Given the description of an element on the screen output the (x, y) to click on. 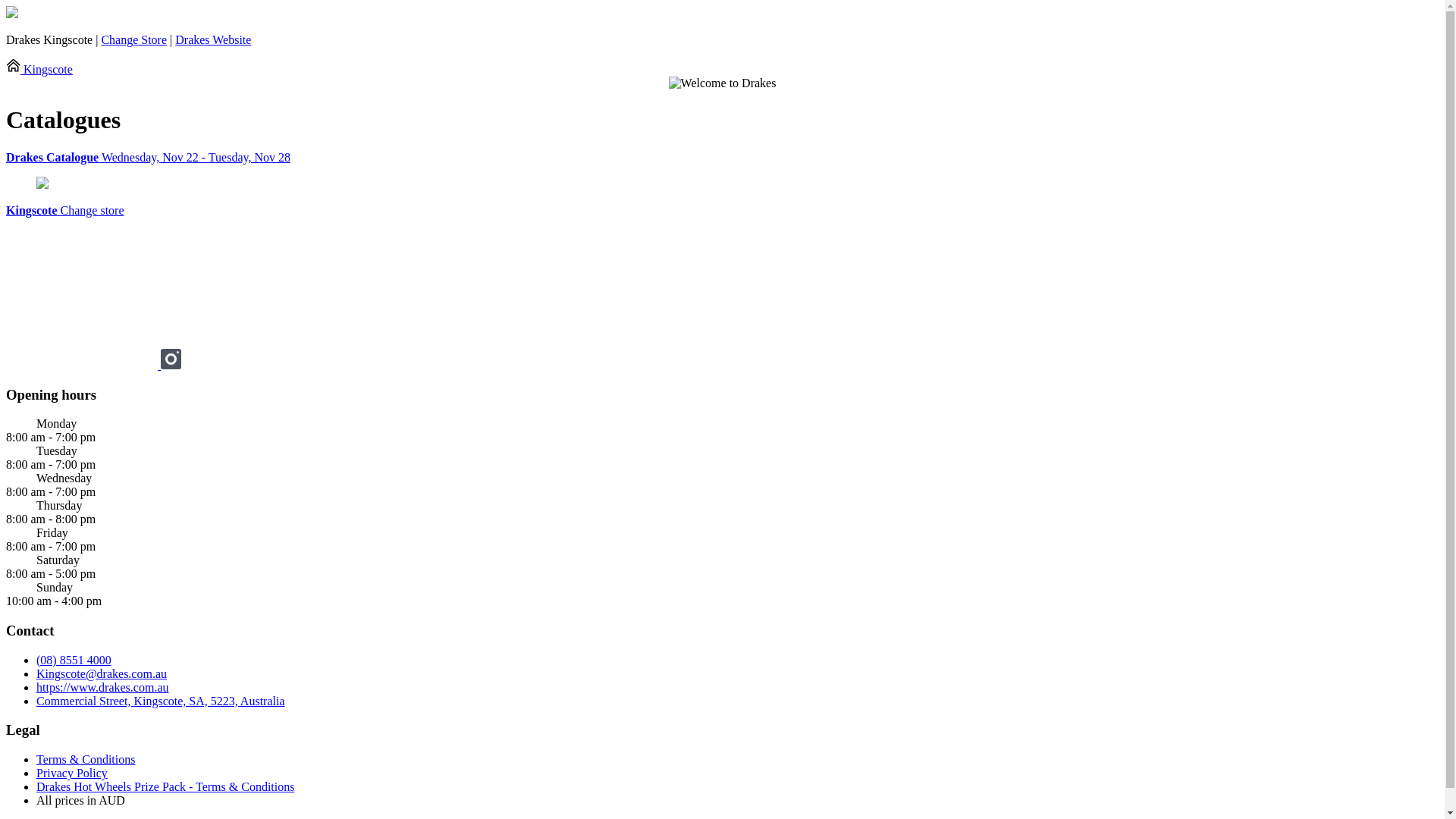
(08) 8551 4000 Element type: text (73, 659)
Kingscote Change store Element type: text (65, 209)
Kingscote@drakes.com.au Element type: text (101, 673)
Instagram drakessupermarkets Element type: hover (170, 364)
Kingscote Element type: text (39, 68)
Terms & Conditions Element type: text (85, 759)
Commercial Street, Kingscote, SA, 5223, Australia Element type: text (160, 700)
Drakes Website Element type: text (213, 39)
Privacy Policy Element type: text (71, 772)
Drakes Catalogue Wednesday, Nov 22 - Tuesday, Nov 28 Element type: text (722, 156)
Drakes Hot Wheels Prize Pack - Terms & Conditions Element type: text (165, 786)
Facebook Element type: hover (83, 364)
https://www.drakes.com.au Element type: text (102, 686)
Change Store Element type: text (133, 39)
